Given the description of an element on the screen output the (x, y) to click on. 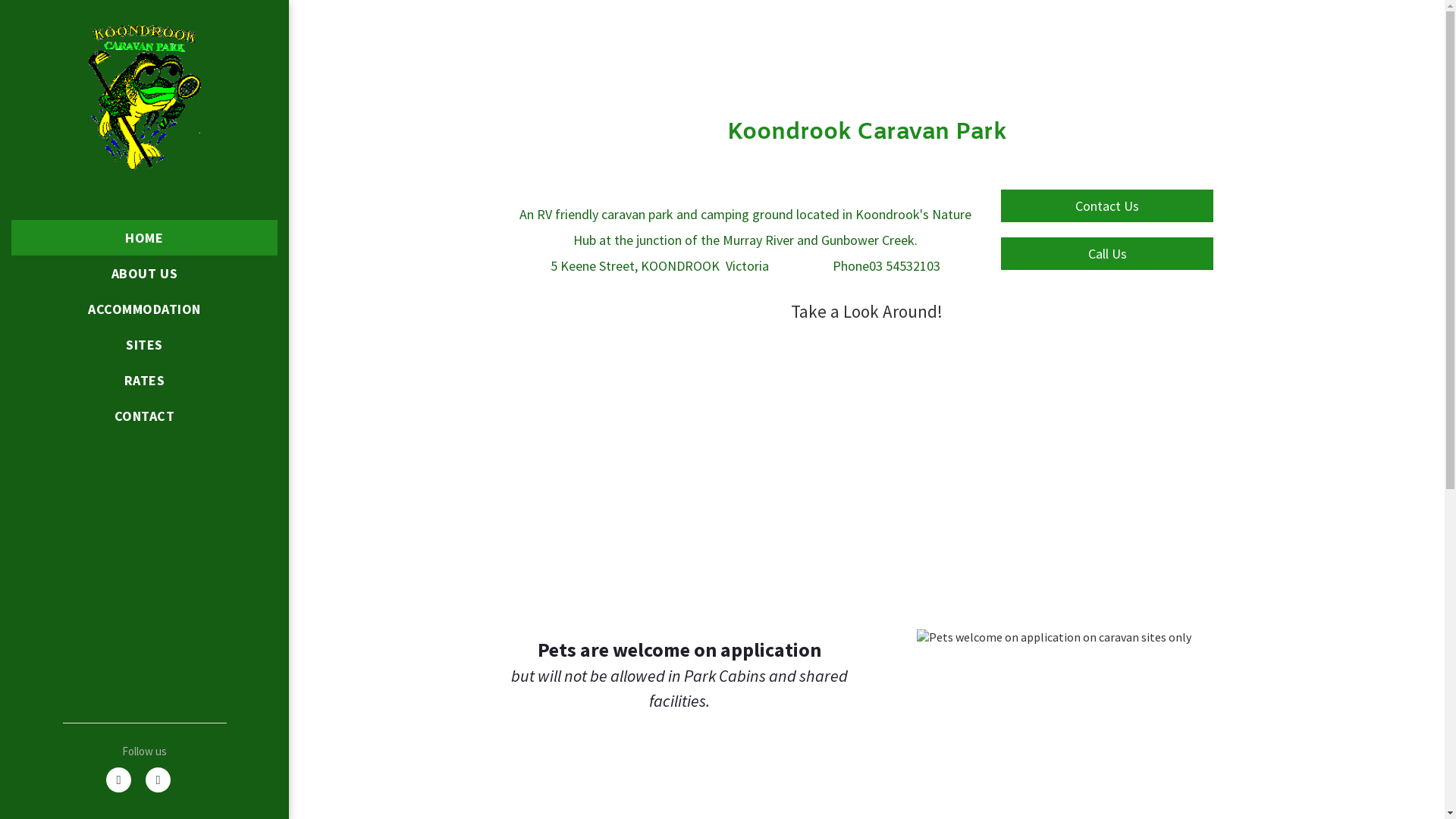
HOME Element type: text (144, 237)
ACCOMMODATION Element type: text (144, 308)
Call Us Element type: text (1107, 253)
SITES Element type: text (144, 344)
Contact Us Element type: text (1107, 205)
RATES Element type: text (144, 380)
CONTACT Element type: text (144, 415)
ABOUT US Element type: text (144, 273)
